Given the description of an element on the screen output the (x, y) to click on. 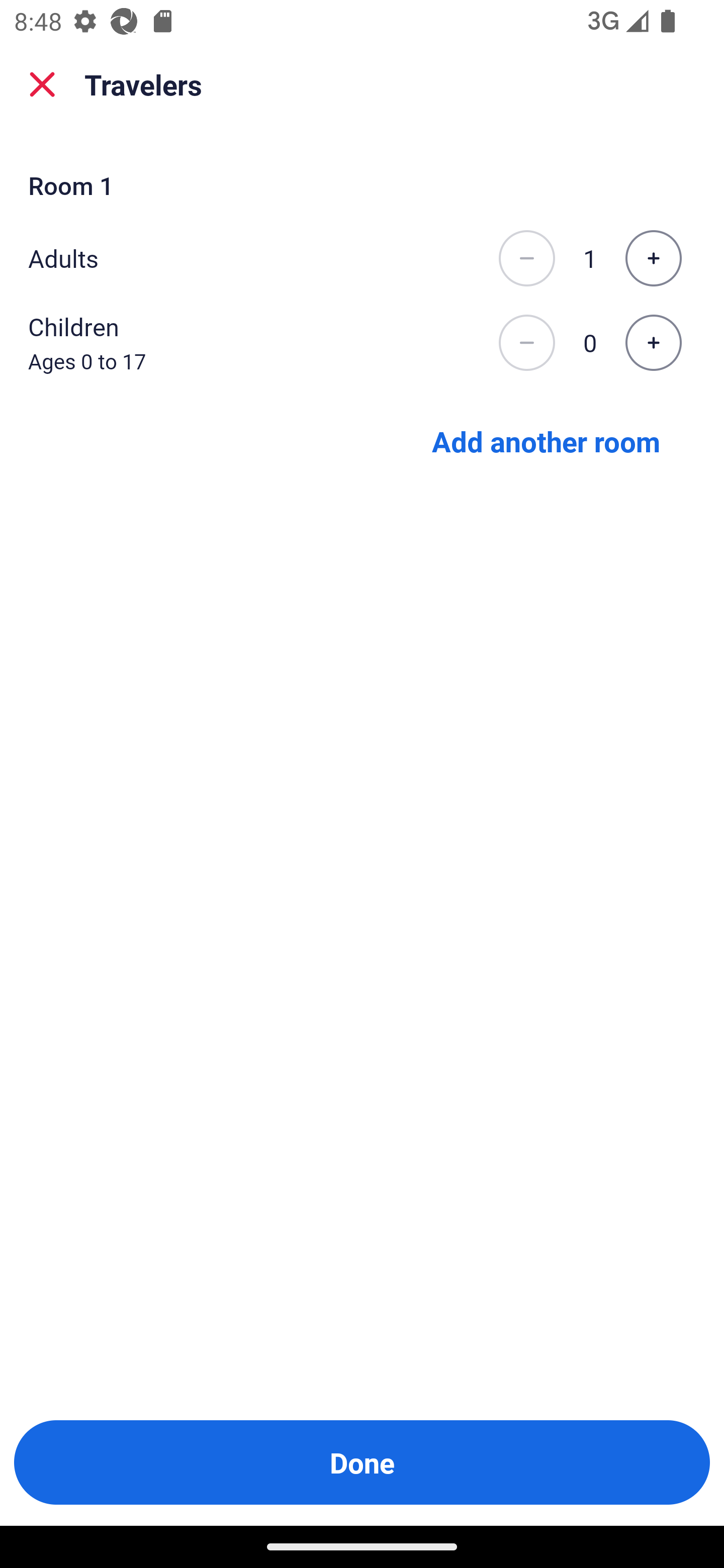
close (42, 84)
Decrease the number of adults (526, 258)
Increase the number of adults (653, 258)
Decrease the number of children (526, 343)
Increase the number of children (653, 343)
Add another room (545, 440)
Done (361, 1462)
